Given the description of an element on the screen output the (x, y) to click on. 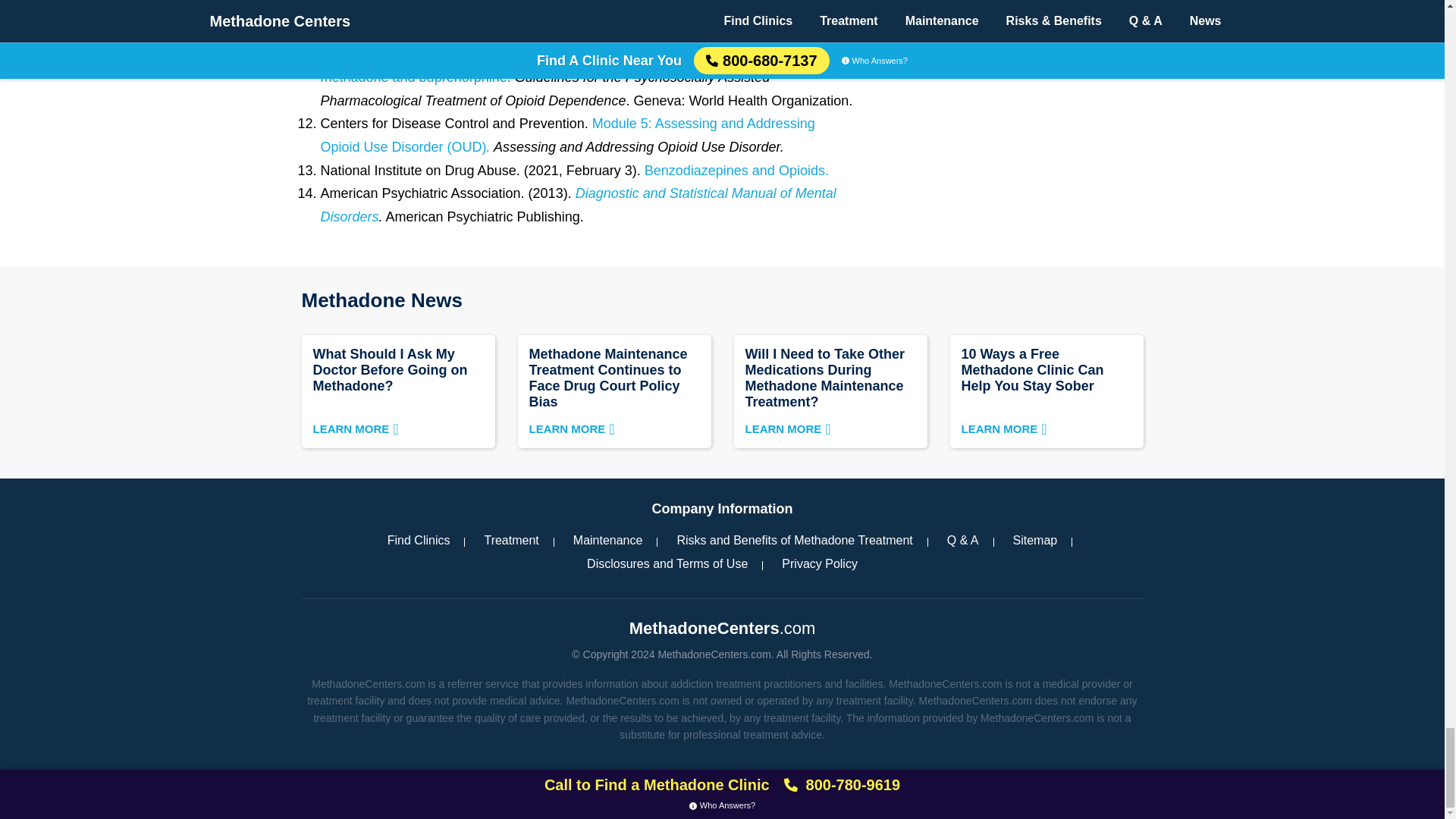
Drug interactions involving methadone and buprenorphine. (565, 65)
Full Prescribing Information. (629, 30)
